Given the description of an element on the screen output the (x, y) to click on. 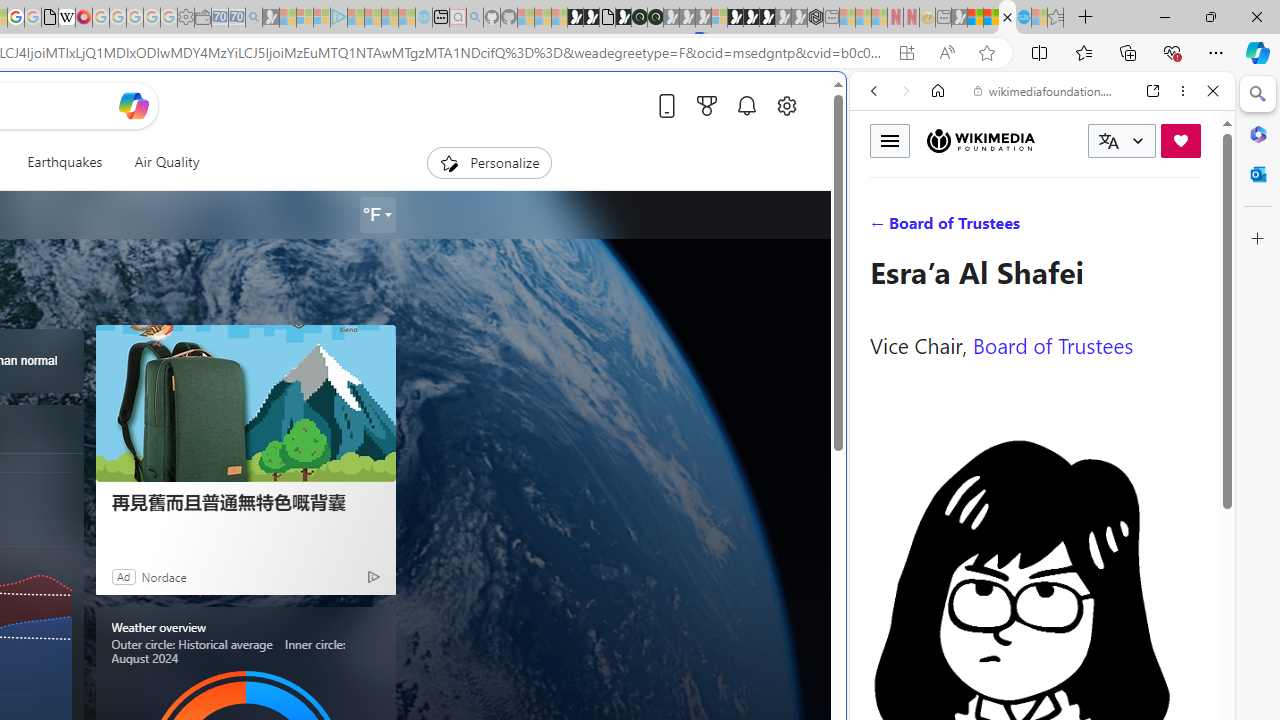
wikimediafoundation.org (1045, 90)
Wikimedia Foundation (980, 140)
Earthquakes (64, 162)
Frequently visited (418, 265)
Class: i icon icon-translate language-switcher__icon (1108, 141)
CURRENT LANGUAGE: (1121, 141)
